Given the description of an element on the screen output the (x, y) to click on. 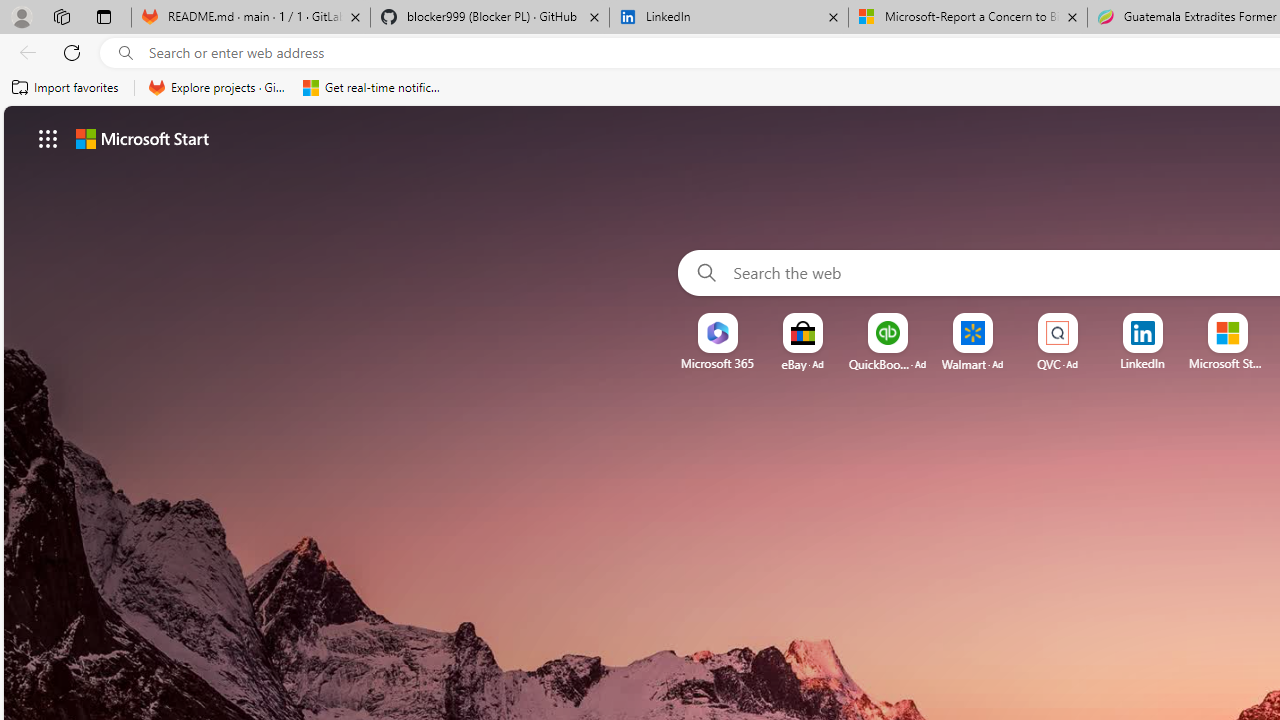
App launcher (47, 138)
Import favorites (65, 88)
